Given the description of an element on the screen output the (x, y) to click on. 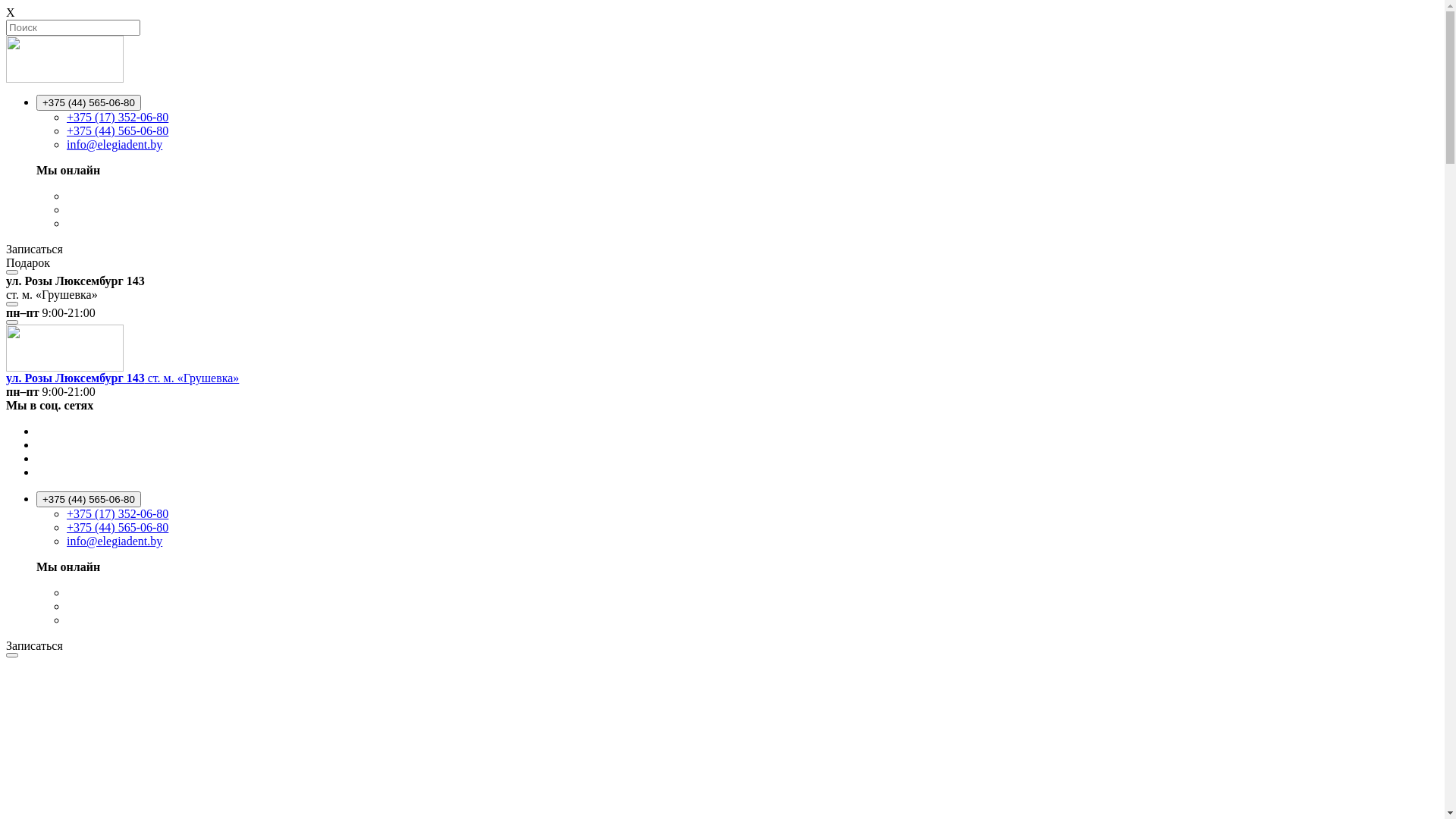
+375 (44) 565-06-80 Element type: text (88, 499)
+375 (44) 565-06-80 Element type: text (117, 526)
info@elegiadent.by Element type: text (114, 144)
+375 (44) 565-06-80 Element type: text (88, 102)
+375 (44) 565-06-80 Element type: text (117, 130)
+375 (17) 352-06-80 Element type: text (117, 116)
+375 (17) 352-06-80 Element type: text (117, 513)
info@elegiadent.by Element type: text (114, 540)
